Given the description of an element on the screen output the (x, y) to click on. 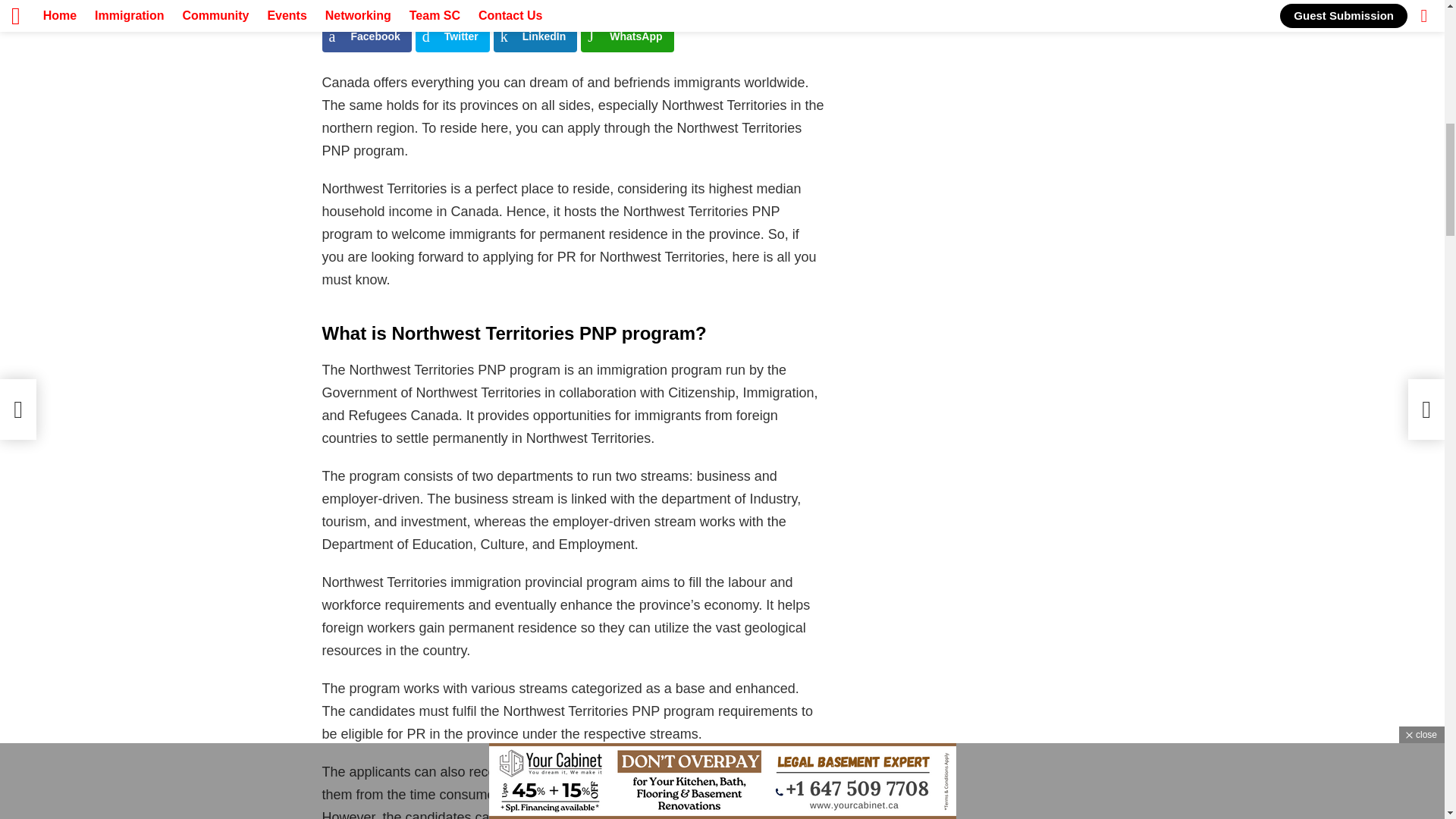
Share on Twitter (451, 36)
Share on LinkedIn (535, 36)
Share on Facebook (365, 36)
Share on WhatsApp (626, 36)
